Given the description of an element on the screen output the (x, y) to click on. 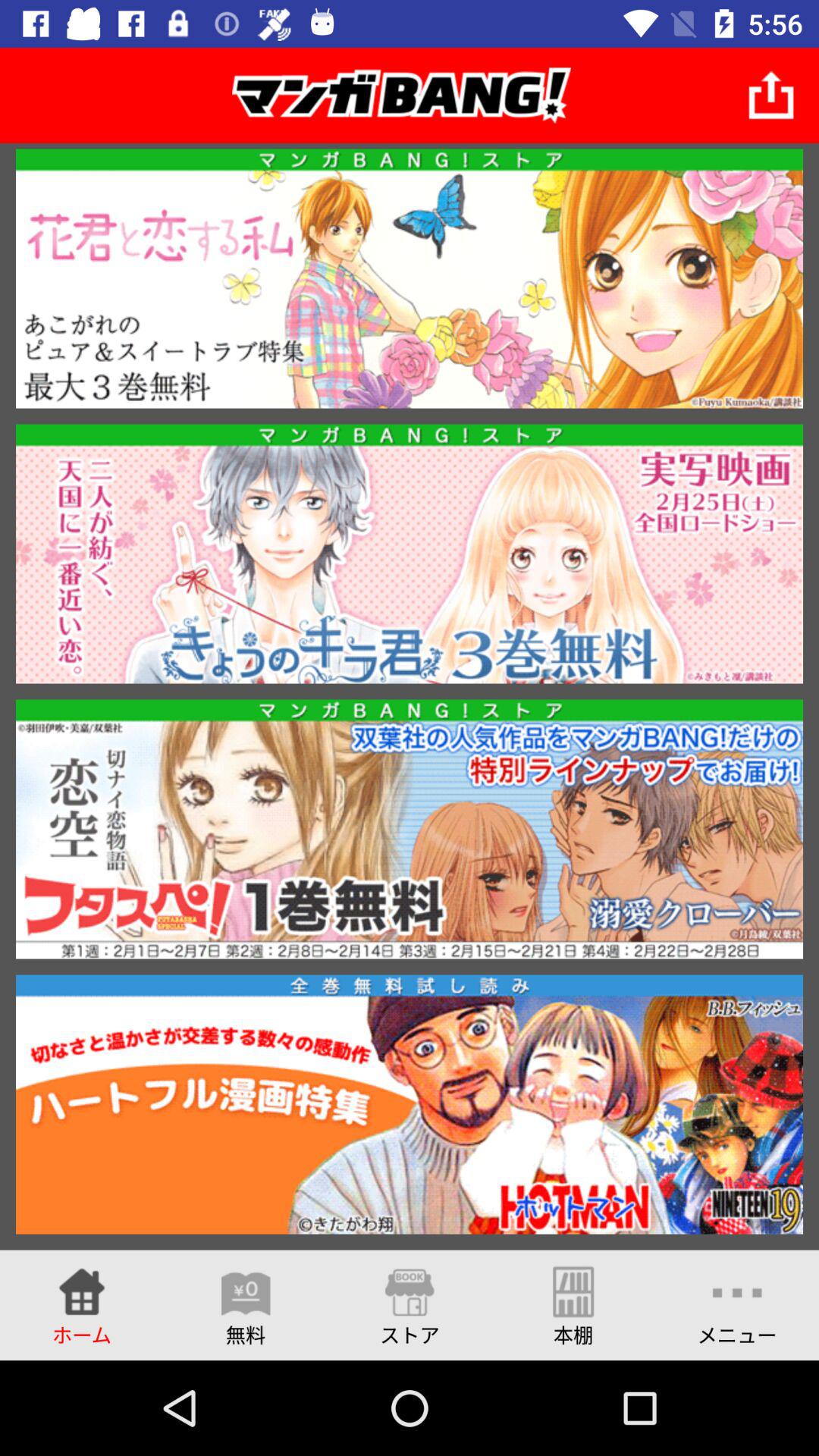
select item at the top right corner (771, 95)
